Given the description of an element on the screen output the (x, y) to click on. 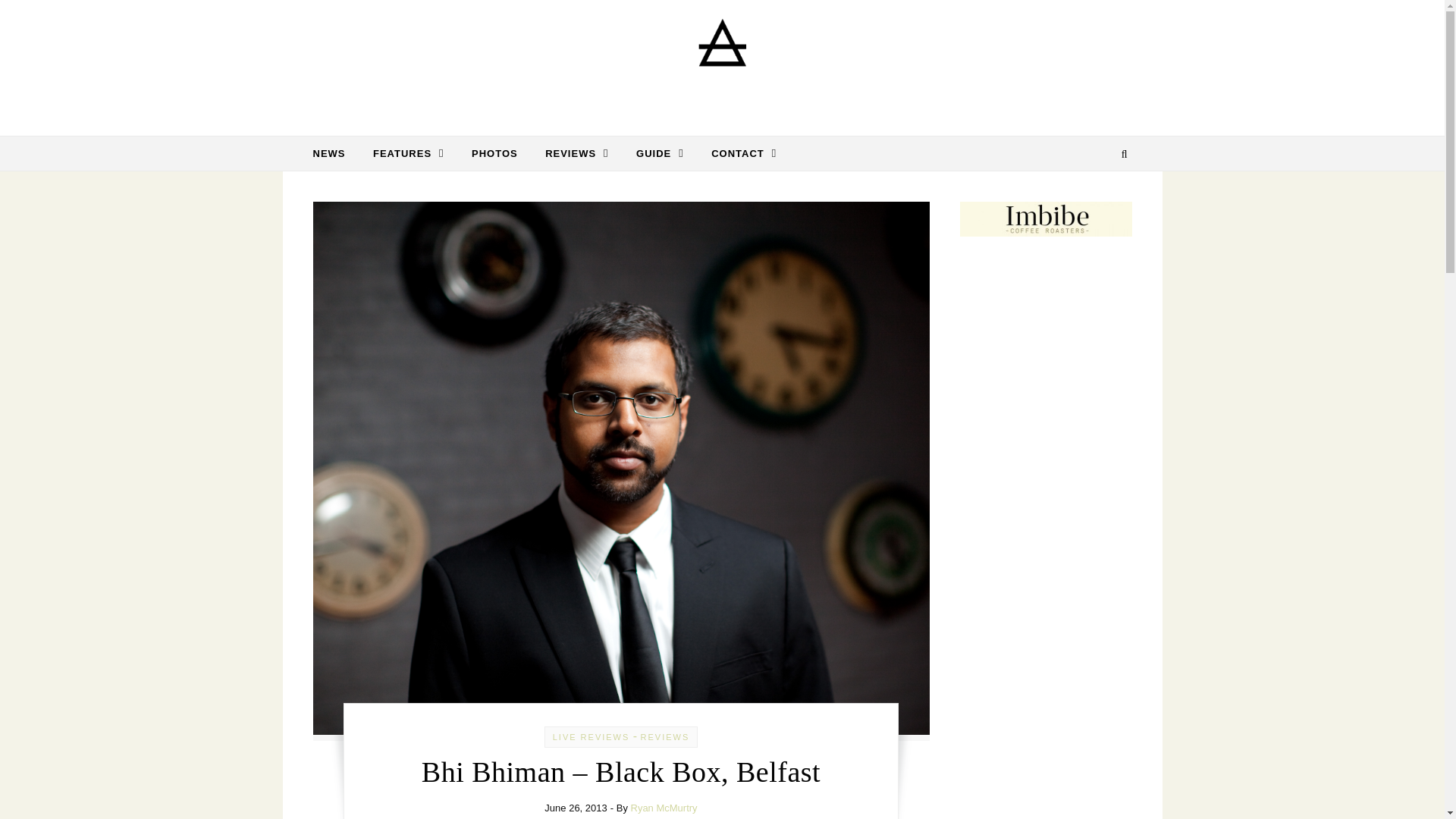
The Thin Air (722, 62)
PHOTOS (494, 153)
REVIEWS (576, 153)
NEWS (334, 153)
FEATURES (409, 153)
GUIDE (659, 153)
Posts by Ryan McMurtry (663, 808)
CONTACT (737, 153)
